Given the description of an element on the screen output the (x, y) to click on. 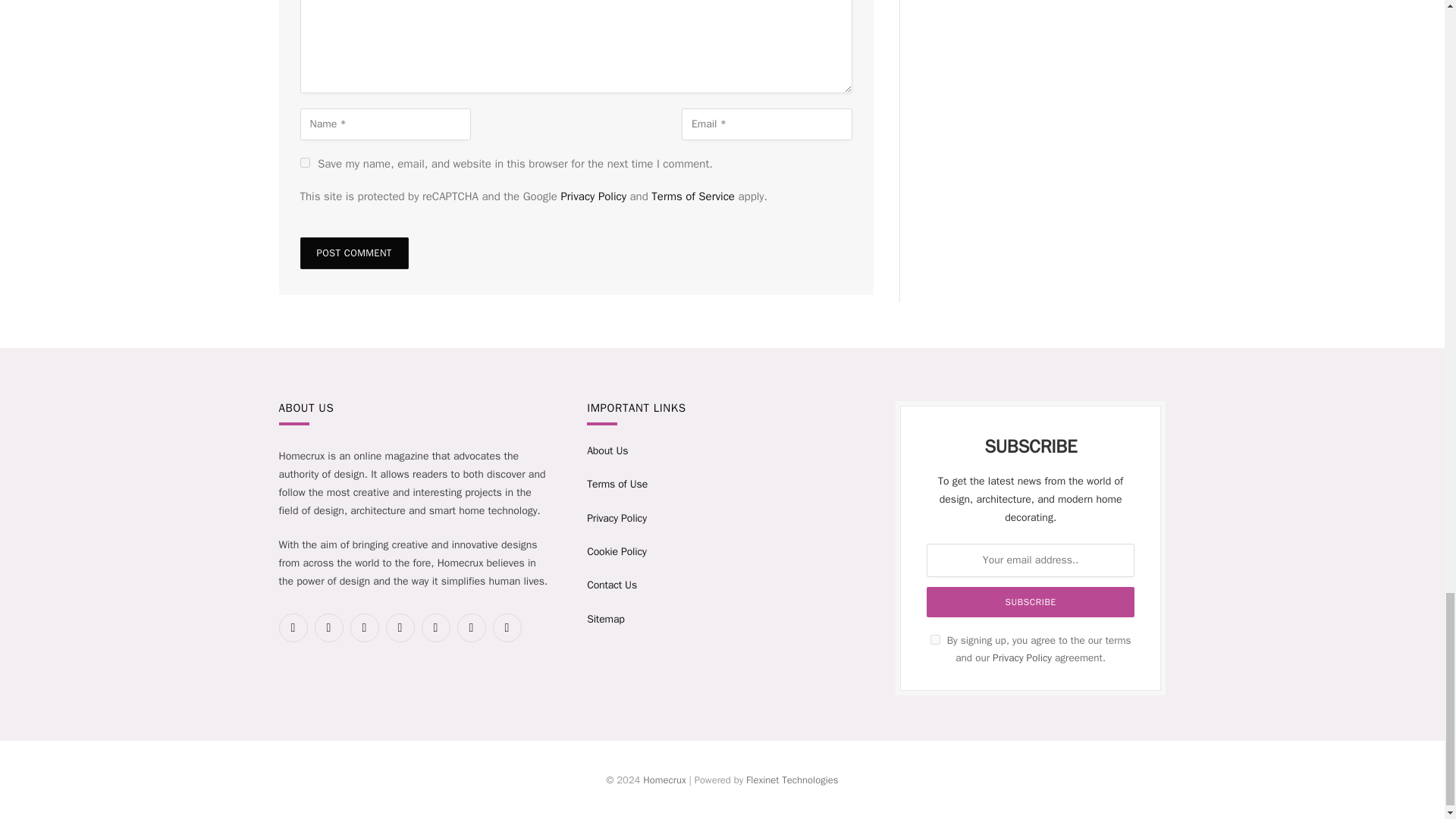
SUBSCRIBE (1030, 602)
Post Comment (354, 253)
on (935, 639)
yes (304, 162)
